Given the description of an element on the screen output the (x, y) to click on. 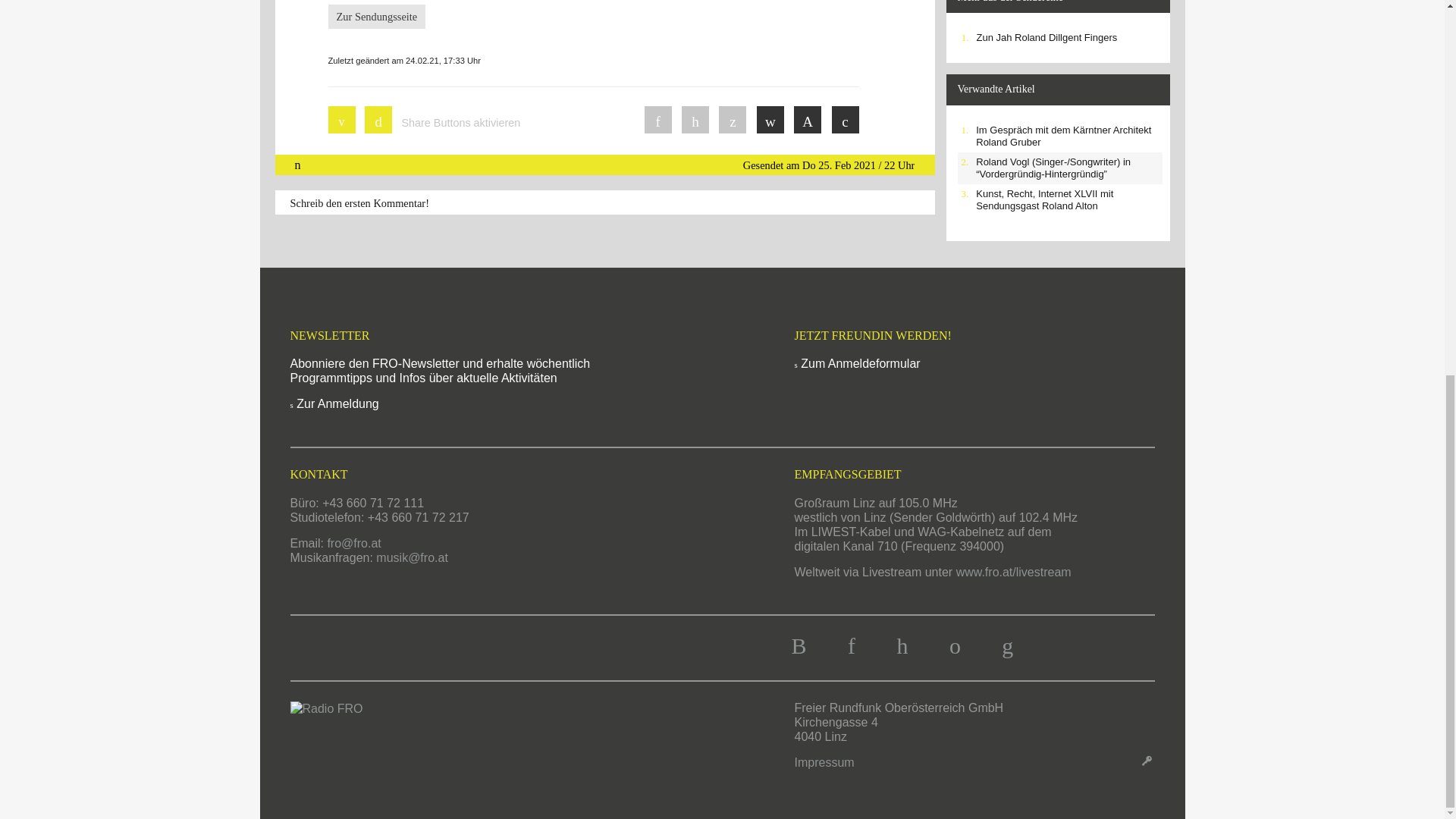
Share-Buttons ein- und ausschalten (378, 119)
Zun Jah Roland Dillgent Fingers (1047, 37)
Auf Facebook teilen (658, 119)
Auf Twitter teilen (695, 119)
Zur Sendungsseite (376, 16)
Auf Whatsapp teilen (732, 119)
Permalink (770, 119)
